Given the description of an element on the screen output the (x, y) to click on. 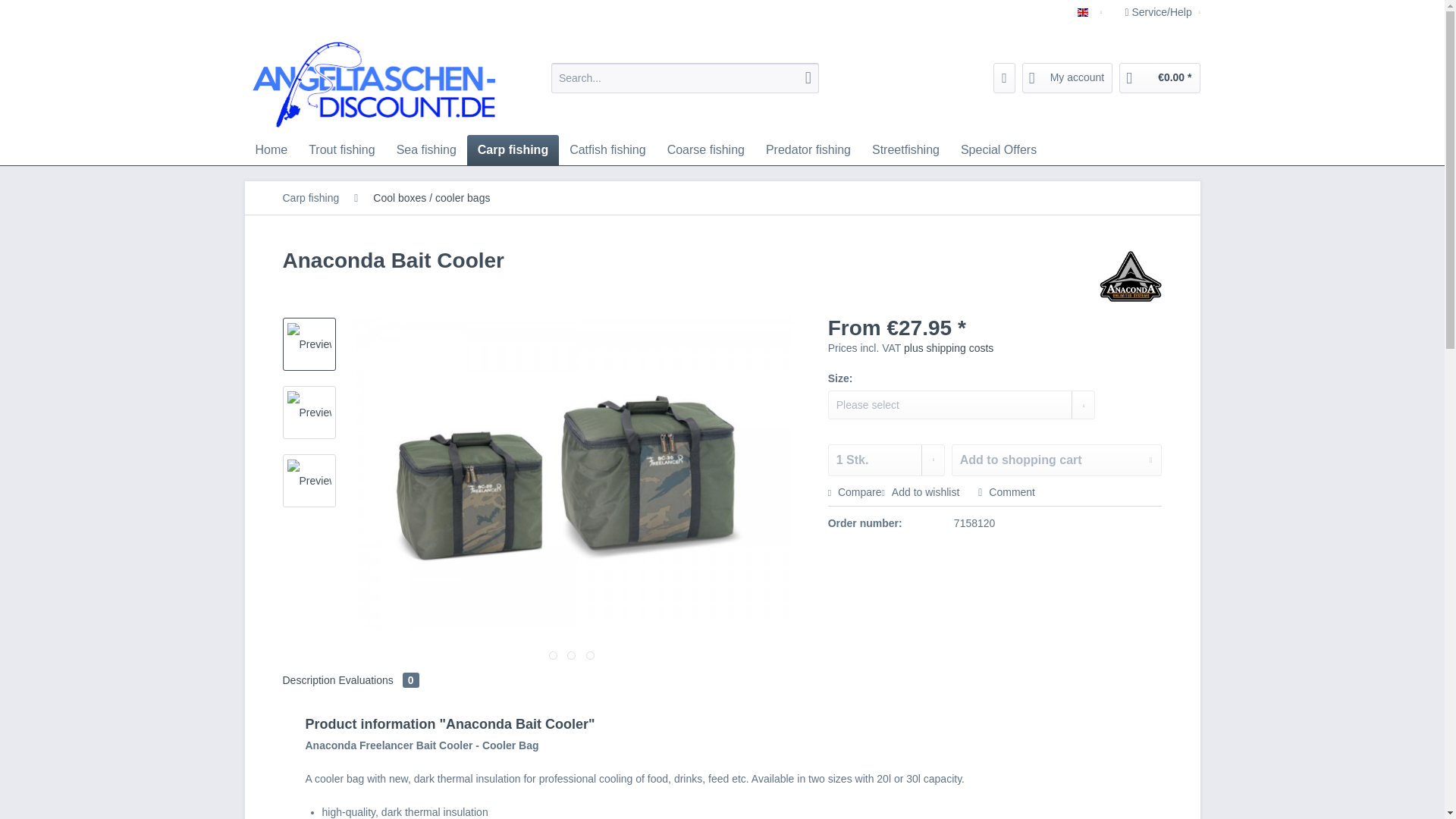
Coarse fishing (705, 150)
Carp fishing (513, 150)
Predator fishing (808, 150)
Streetfishing (905, 150)
Trout fishing (341, 150)
Shopping cart (1159, 78)
My account (1067, 78)
Fishing bags discount - Switch to homepage (375, 80)
Catfish fishing (607, 150)
Sea fishing (426, 150)
